Given the description of an element on the screen output the (x, y) to click on. 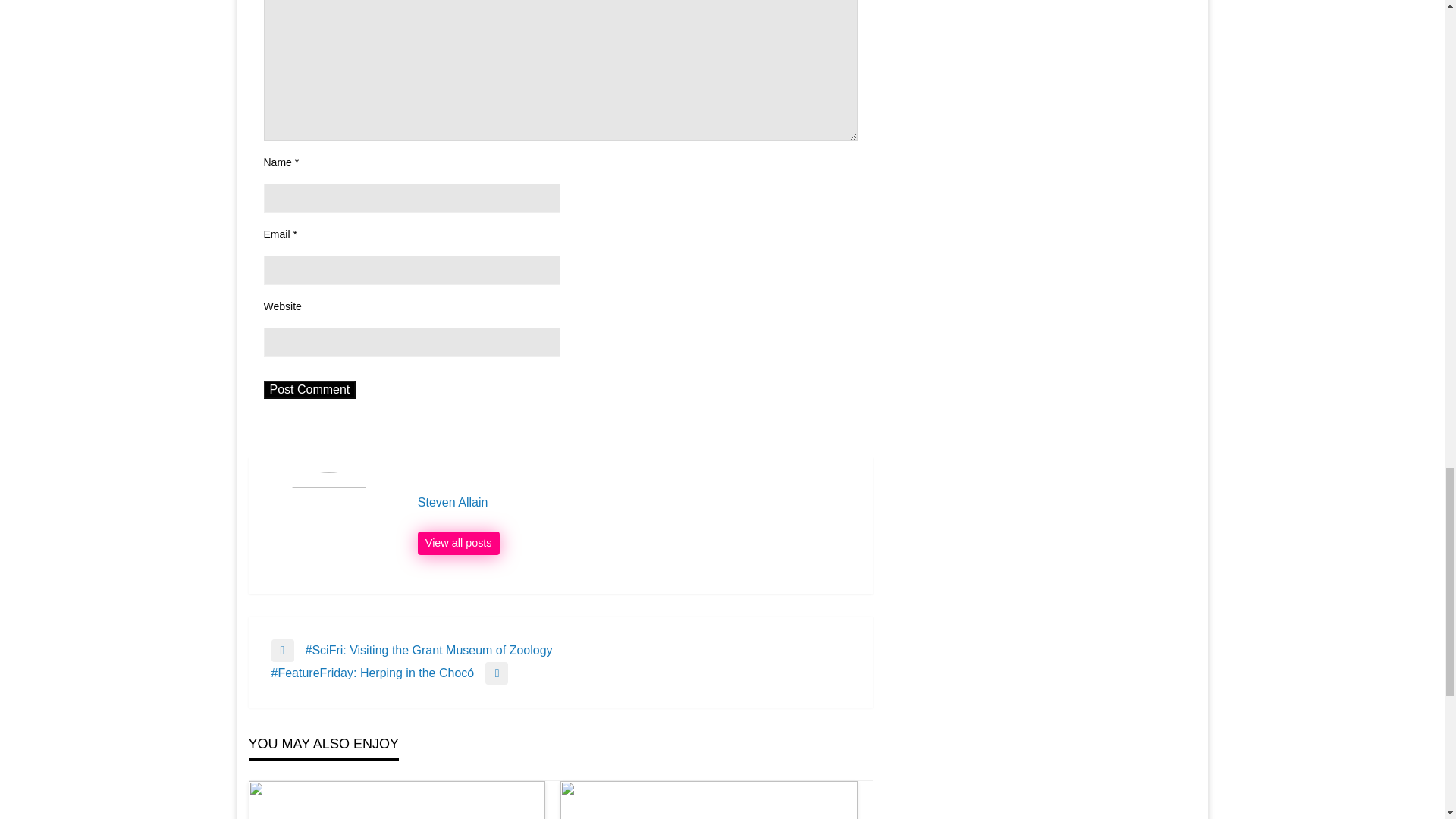
Steven Allain (458, 543)
Steven Allain (637, 502)
Post Comment (309, 389)
